Given the description of an element on the screen output the (x, y) to click on. 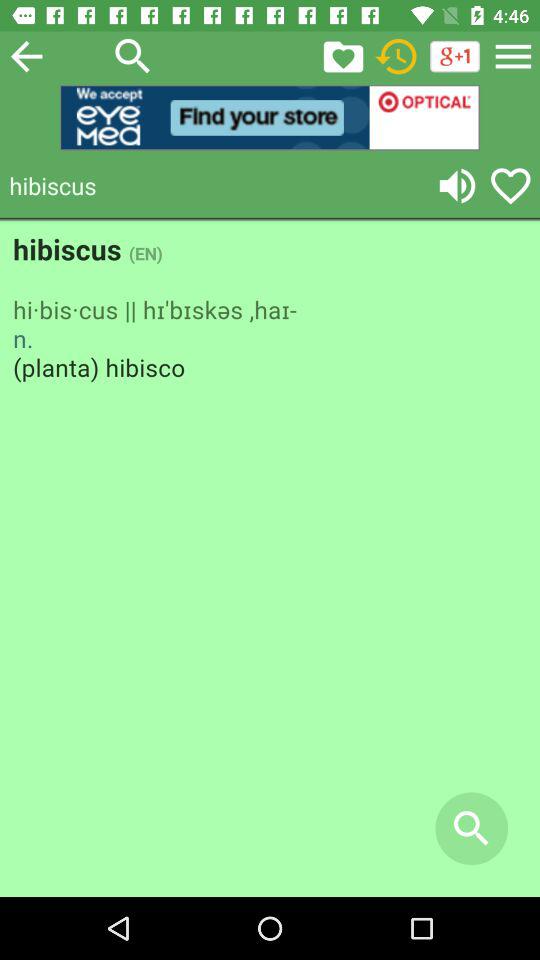
shows clock icon (396, 56)
